Given the description of an element on the screen output the (x, y) to click on. 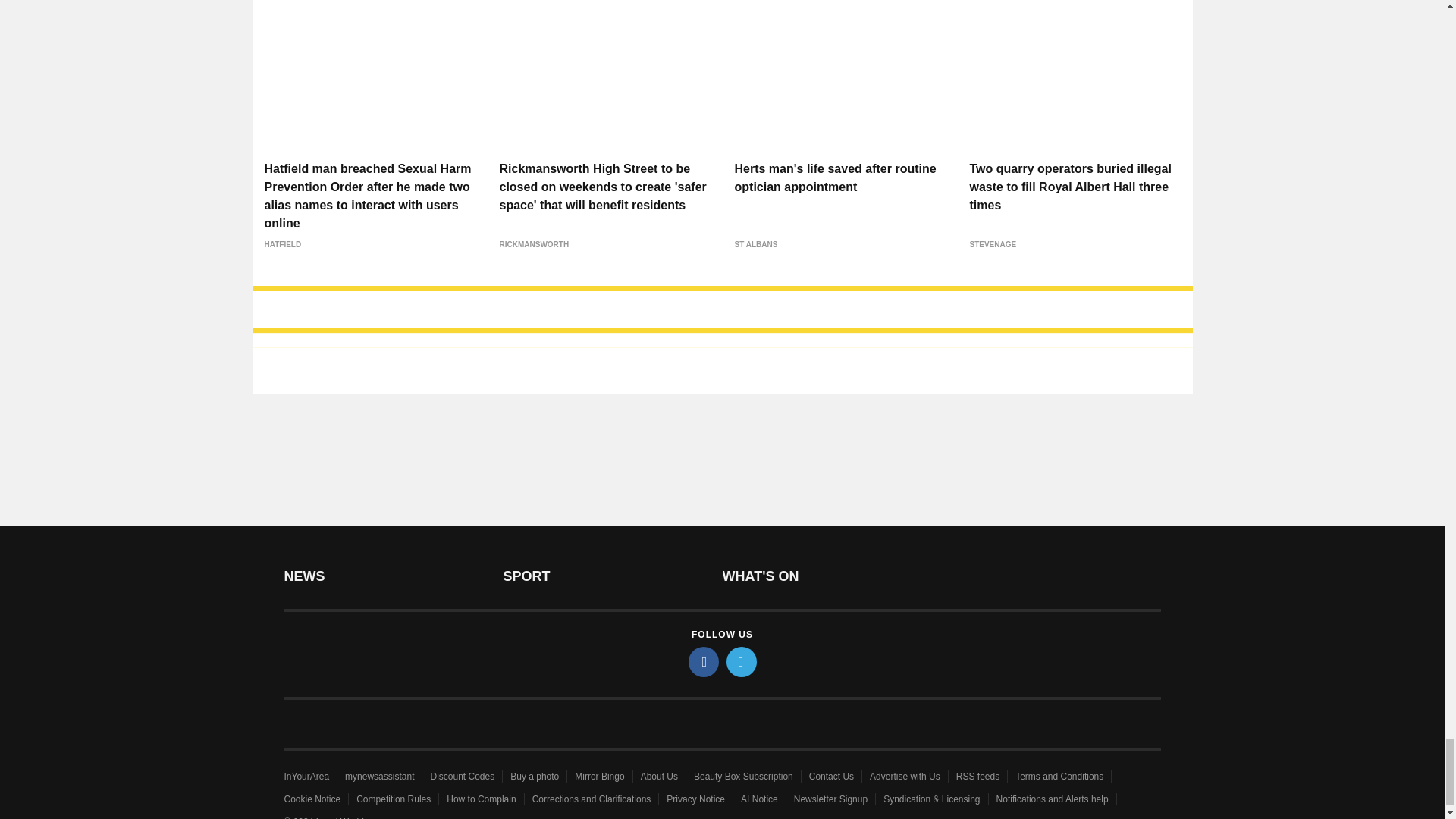
twitter (741, 662)
facebook (703, 662)
